Given the description of an element on the screen output the (x, y) to click on. 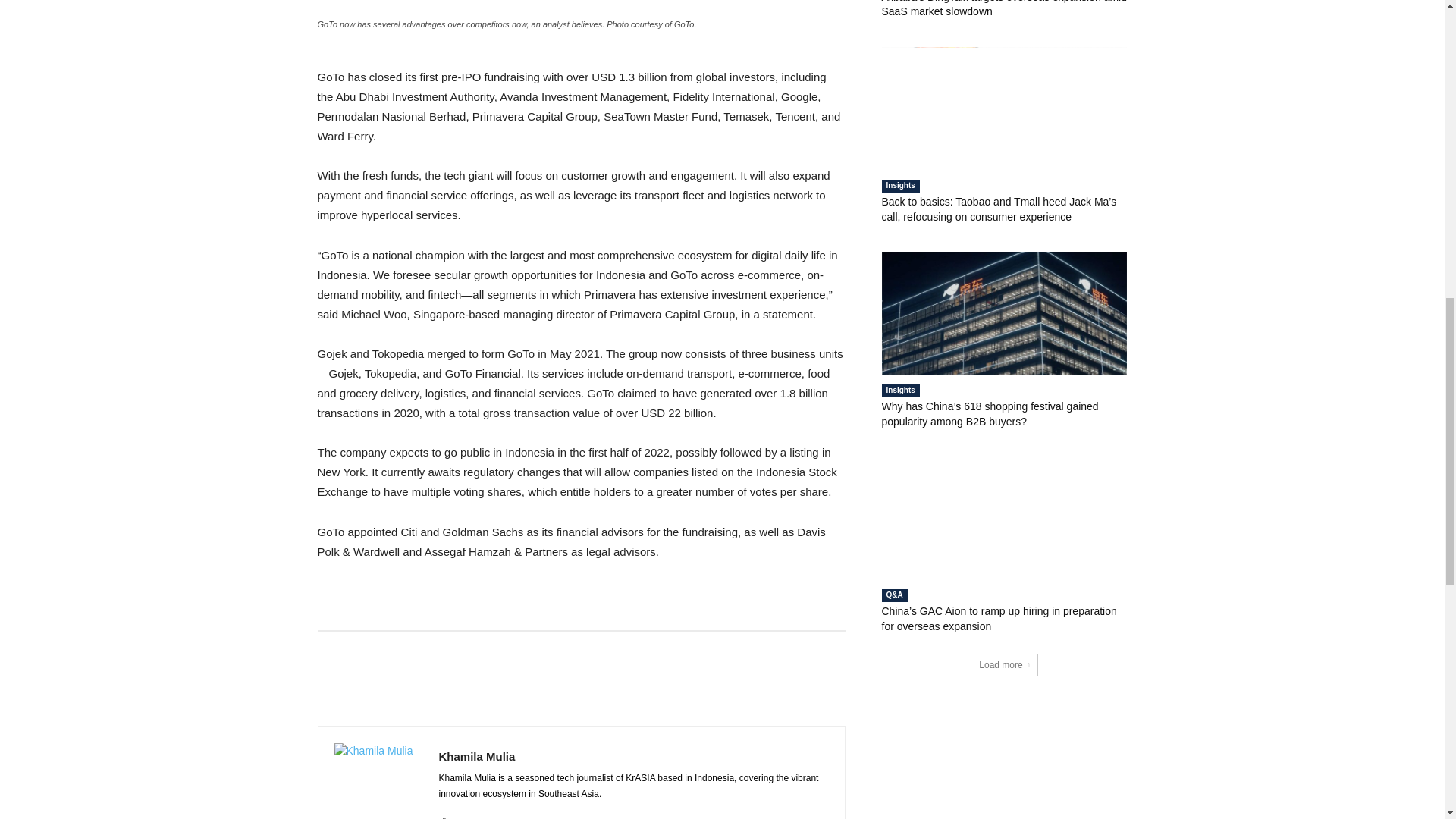
Linkedin (443, 816)
Khamila Mulia (633, 756)
Khamila Mulia (377, 780)
GoTo 3 (580, 6)
